Given the description of an element on the screen output the (x, y) to click on. 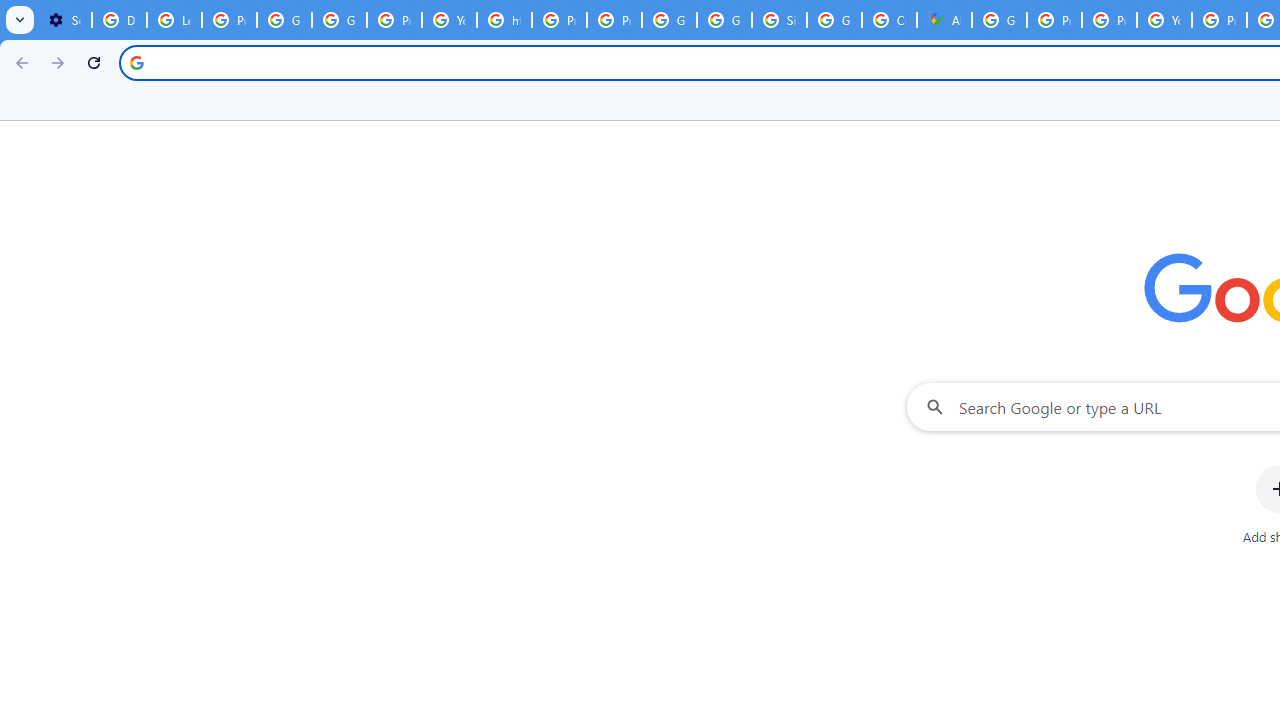
Google Account Help (284, 20)
Create your Google Account (888, 20)
Privacy Help Center - Policies Help (1053, 20)
Privacy Help Center - Policies Help (559, 20)
YouTube (1163, 20)
Delete photos & videos - Computer - Google Photos Help (119, 20)
Settings - On startup (64, 20)
Privacy Help Center - Policies Help (1108, 20)
